Given the description of an element on the screen output the (x, y) to click on. 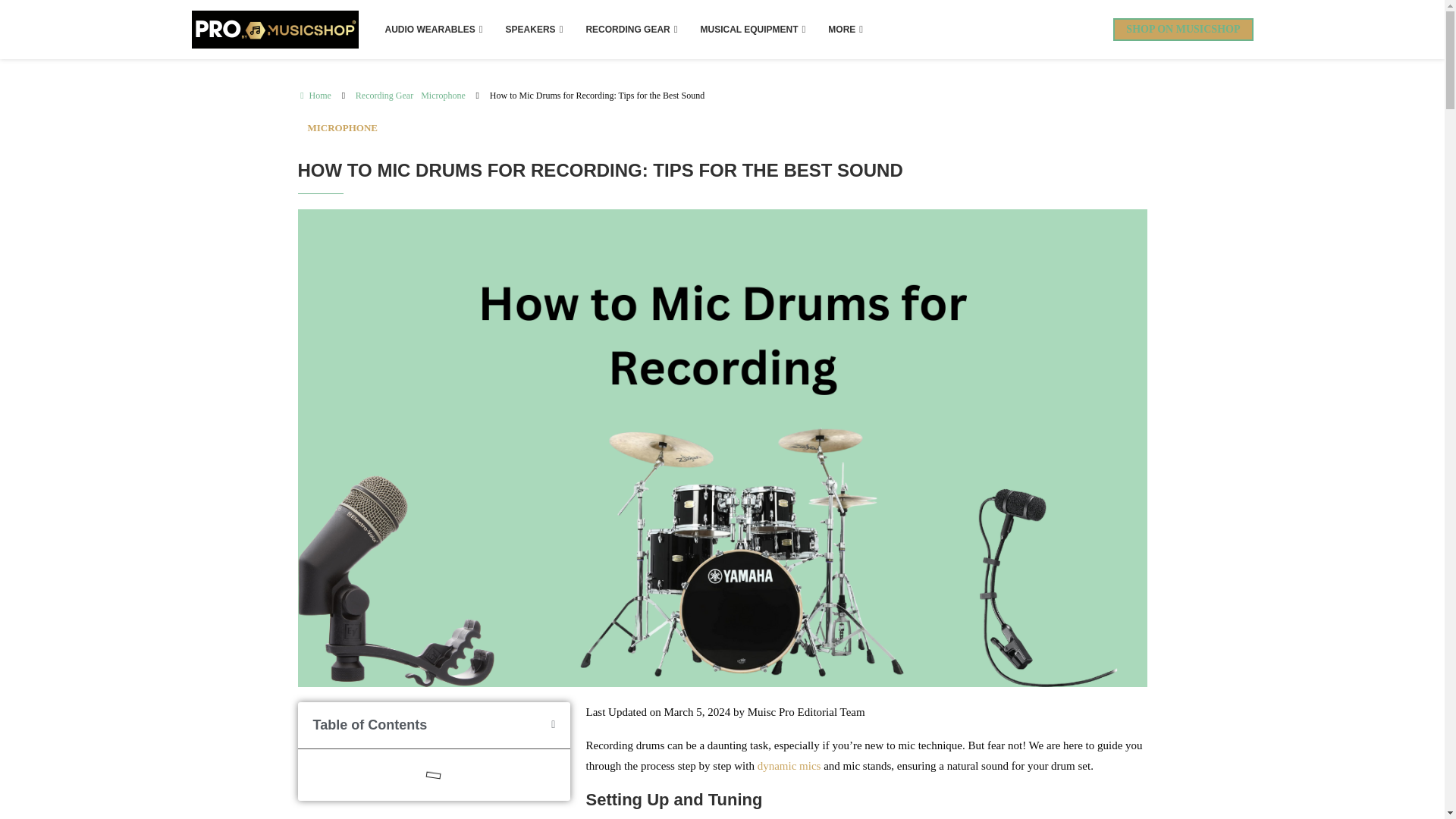
SPEAKERS (535, 29)
AUDIO WEARABLES (432, 29)
Home (313, 95)
How to Mic Drums for Recording: Tips for the Best Sound (596, 95)
